Given the description of an element on the screen output the (x, y) to click on. 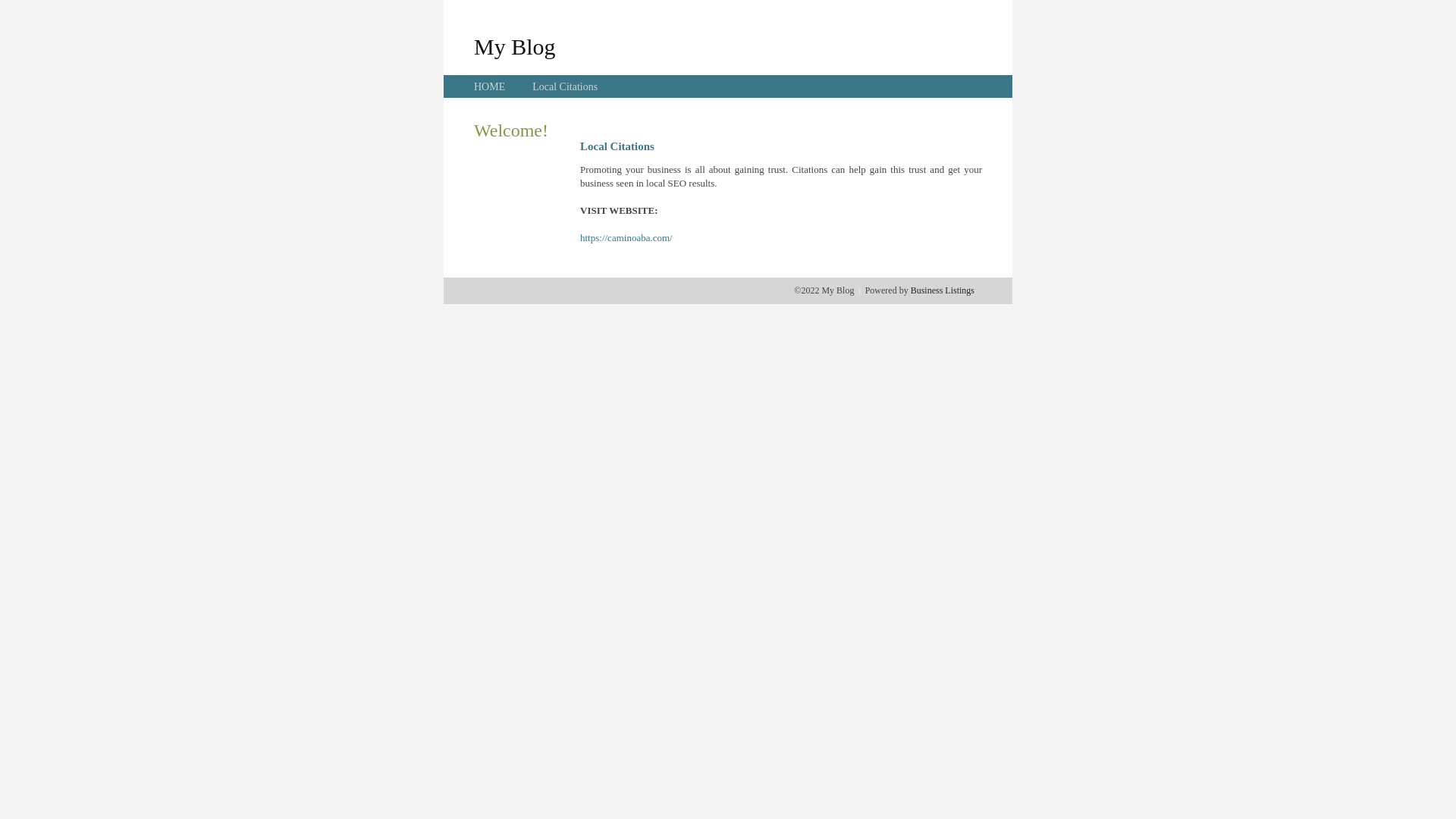
HOME Element type: text (489, 86)
My Blog Element type: text (514, 46)
Business Listings Element type: text (942, 290)
https://caminoaba.com/ Element type: text (626, 237)
Local Citations Element type: text (564, 86)
